Given the description of an element on the screen output the (x, y) to click on. 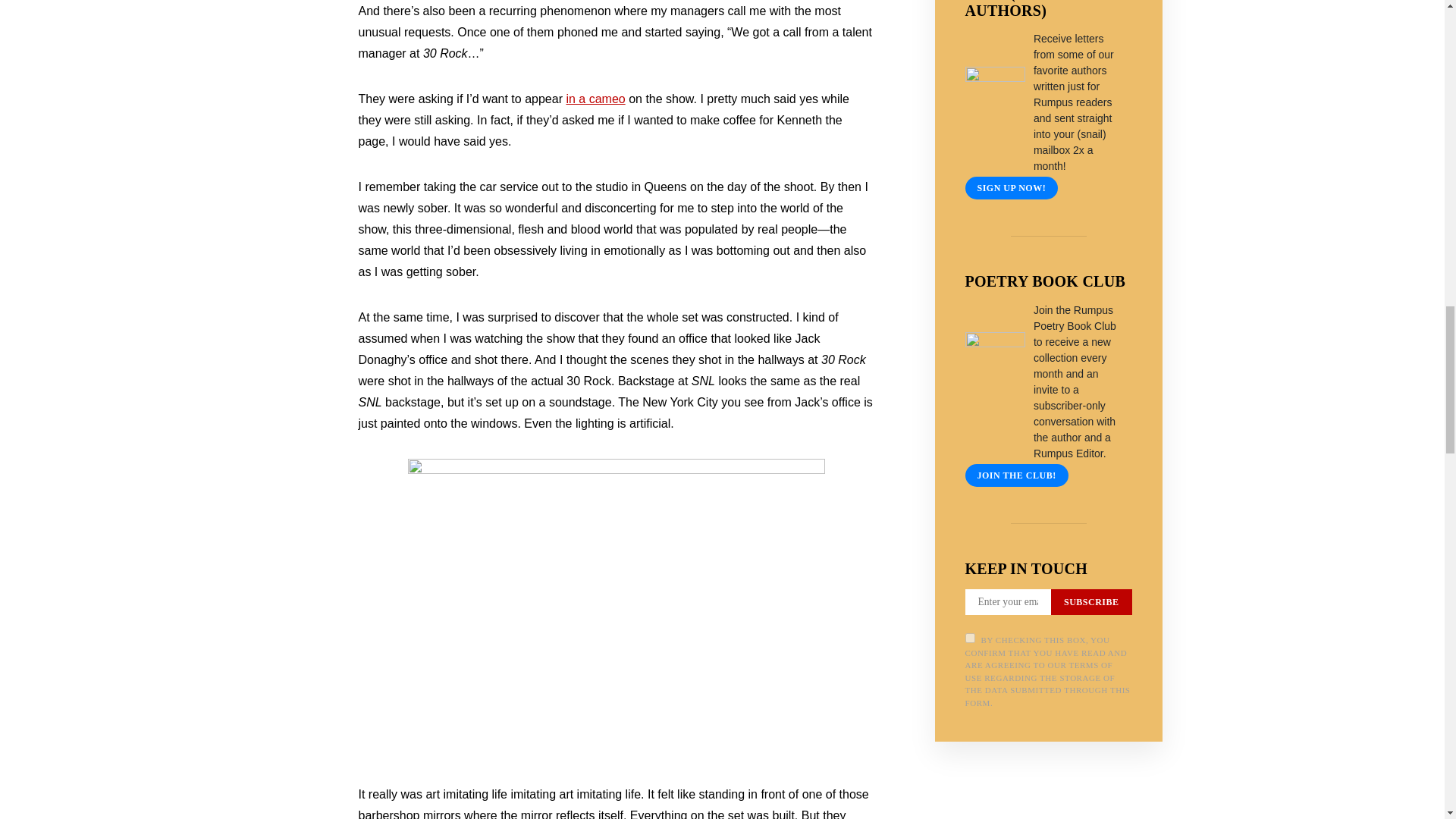
on (968, 637)
3rd party ad content (1047, 804)
